Given the description of an element on the screen output the (x, y) to click on. 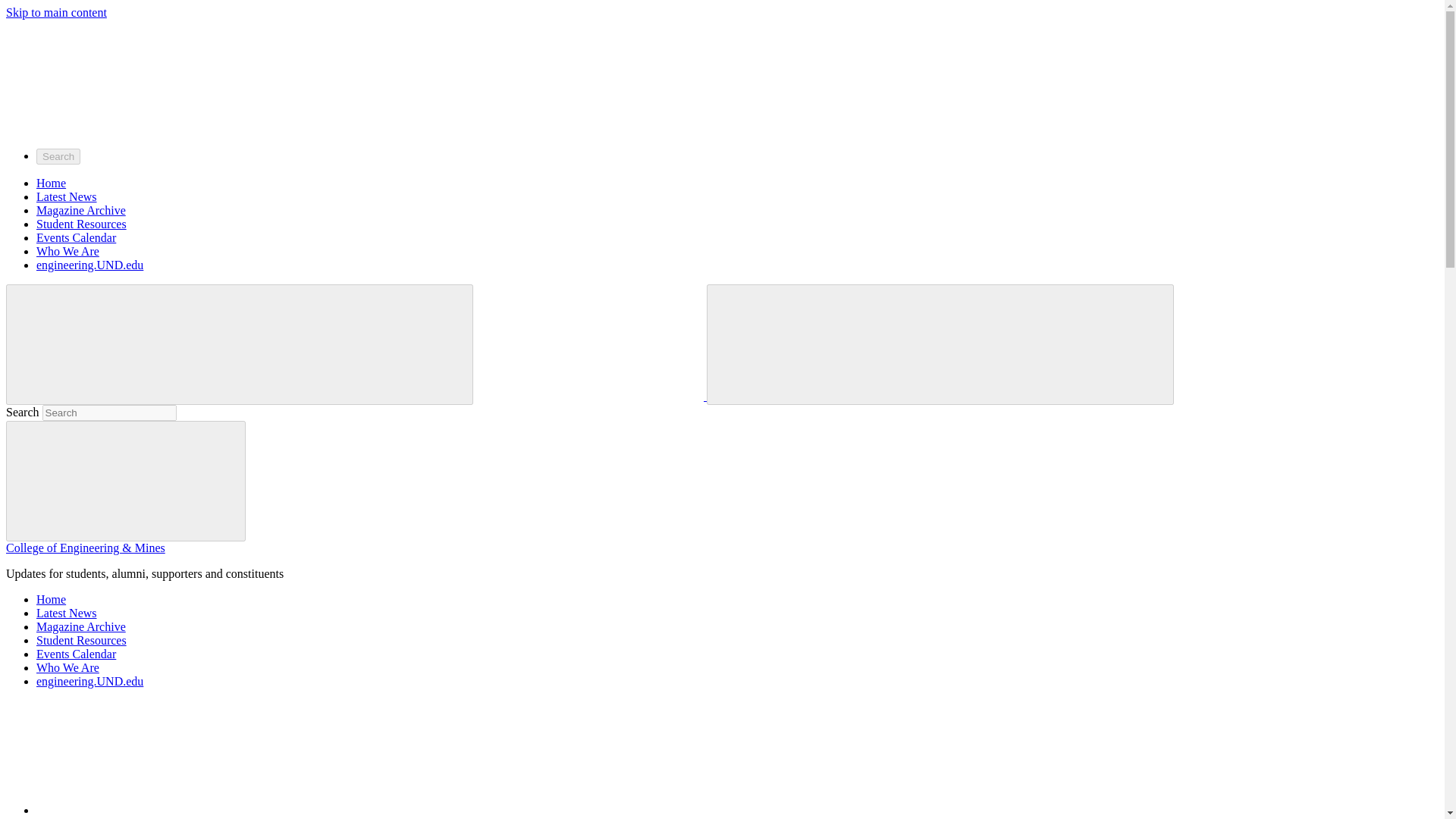
engineering.UND.edu (89, 264)
Home (149, 757)
Student Resources (81, 223)
Home (50, 182)
Latest News (66, 612)
University of North Dakota (118, 76)
Submit (125, 480)
Open MenuClose Menu (239, 344)
Close Menu (353, 343)
engineering.UND.edu (89, 680)
